Given the description of an element on the screen output the (x, y) to click on. 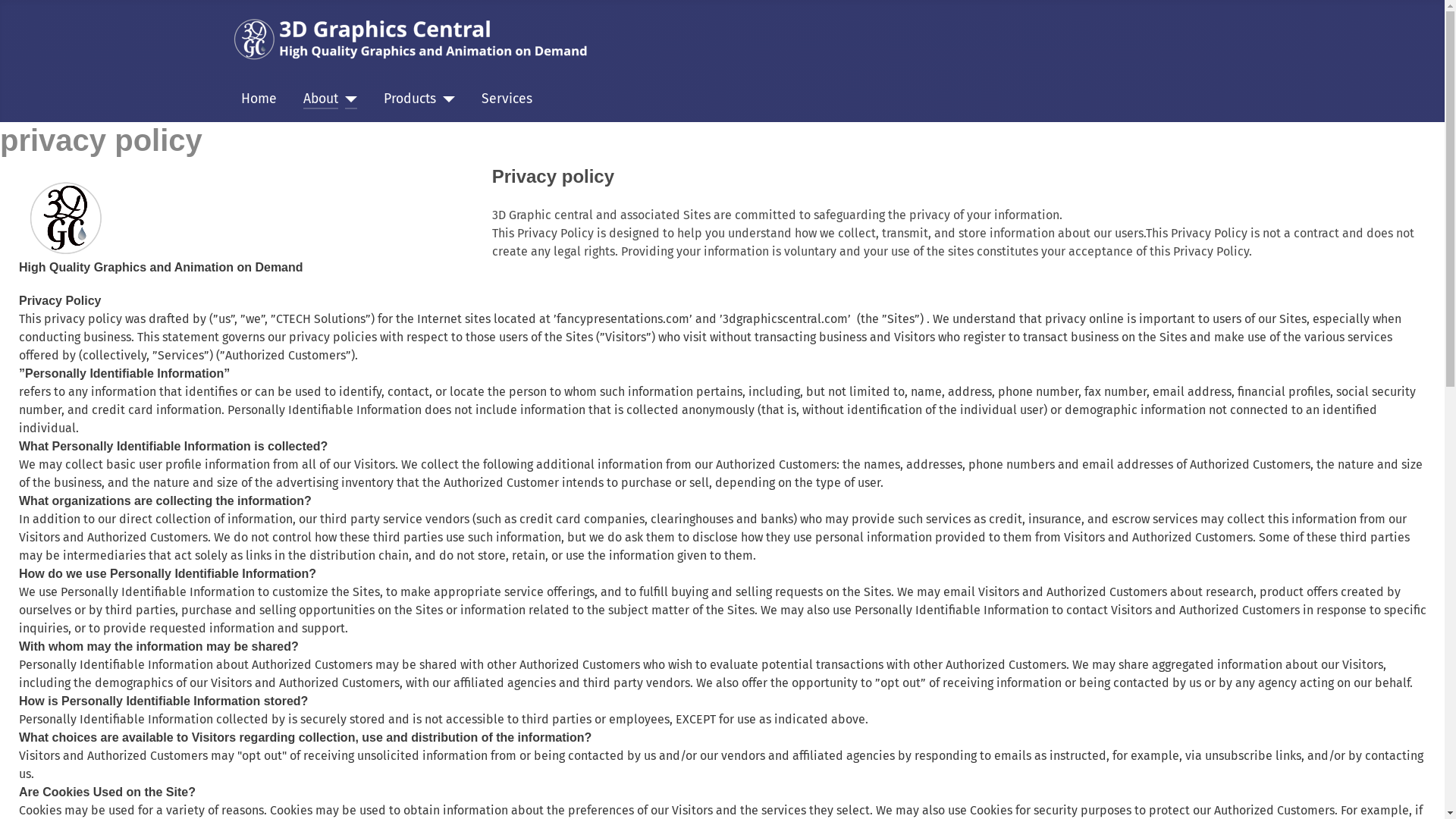
Home Element type: text (258, 99)
About Element type: text (320, 99)
Services Element type: text (506, 99)
Products Element type: text (409, 99)
